Given the description of an element on the screen output the (x, y) to click on. 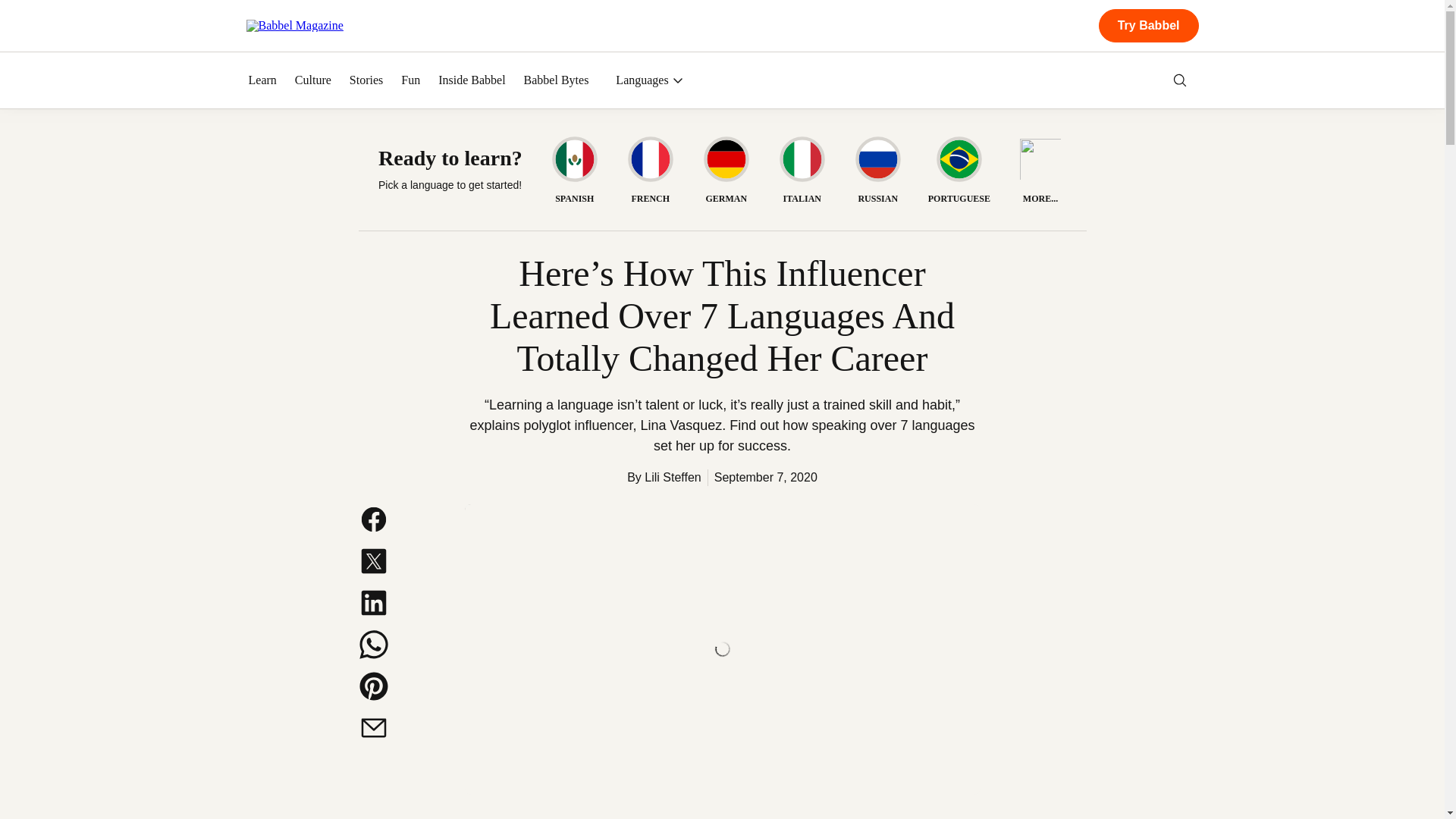
Fun (410, 79)
Stories (365, 79)
Toggle Search (1179, 80)
Inside Babbel (471, 79)
Try Babbel (1148, 25)
Learn (262, 79)
Languages (650, 80)
Culture (313, 79)
Babbel Bytes (556, 79)
